Given the description of an element on the screen output the (x, y) to click on. 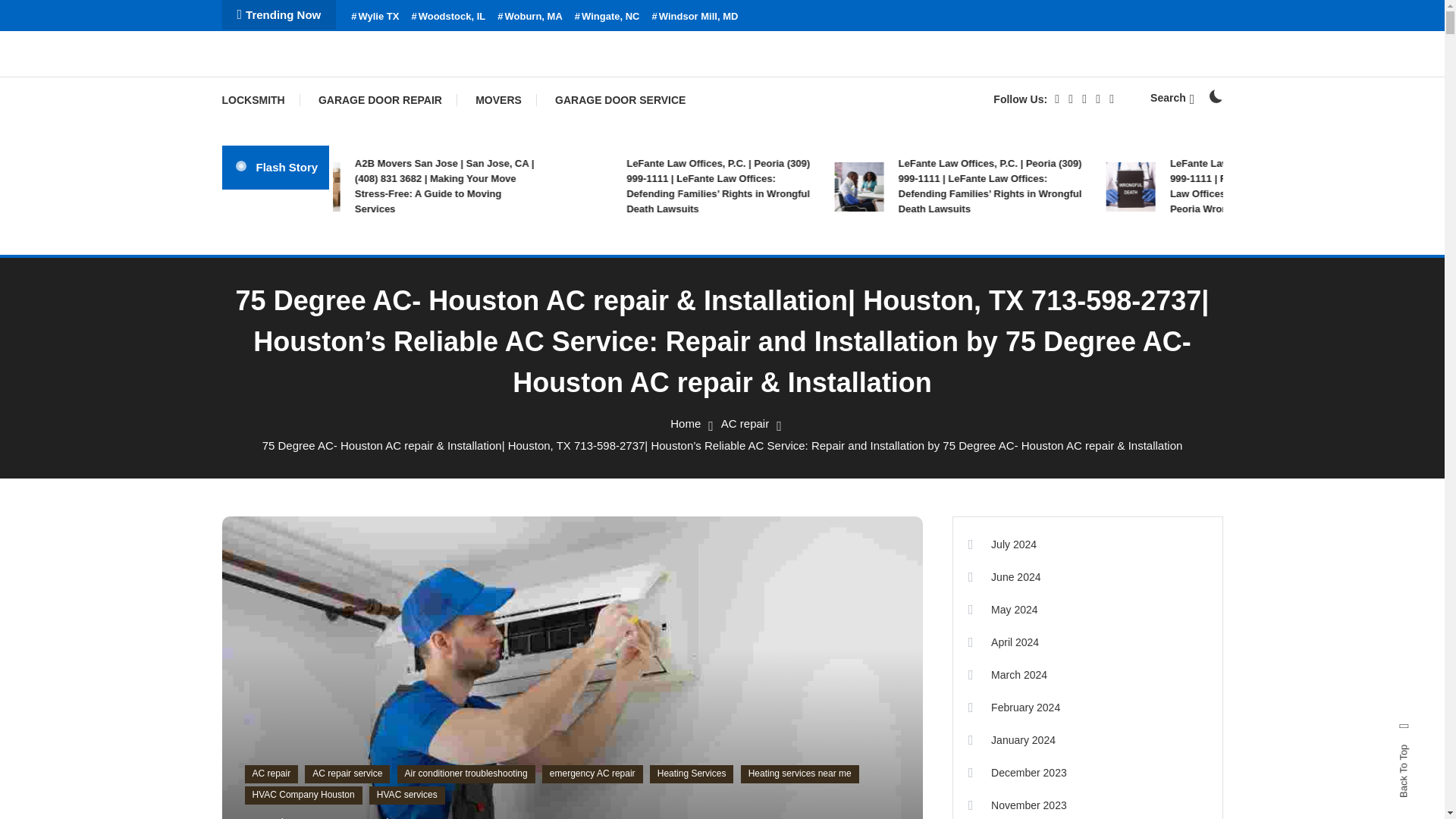
GARAGE DOOR REPAIR (379, 99)
Wylie TX (374, 16)
Search (1171, 97)
Woodstock, IL (447, 16)
Windsor Mill, MD (695, 16)
Woburn, MA (529, 16)
Search (768, 434)
on (1215, 96)
Wingate, NC (607, 16)
AC repair (744, 422)
GARAGE DOOR SERVICE (620, 99)
Home (684, 422)
LOCKSMITH (260, 99)
MOVERS (498, 99)
